Given the description of an element on the screen output the (x, y) to click on. 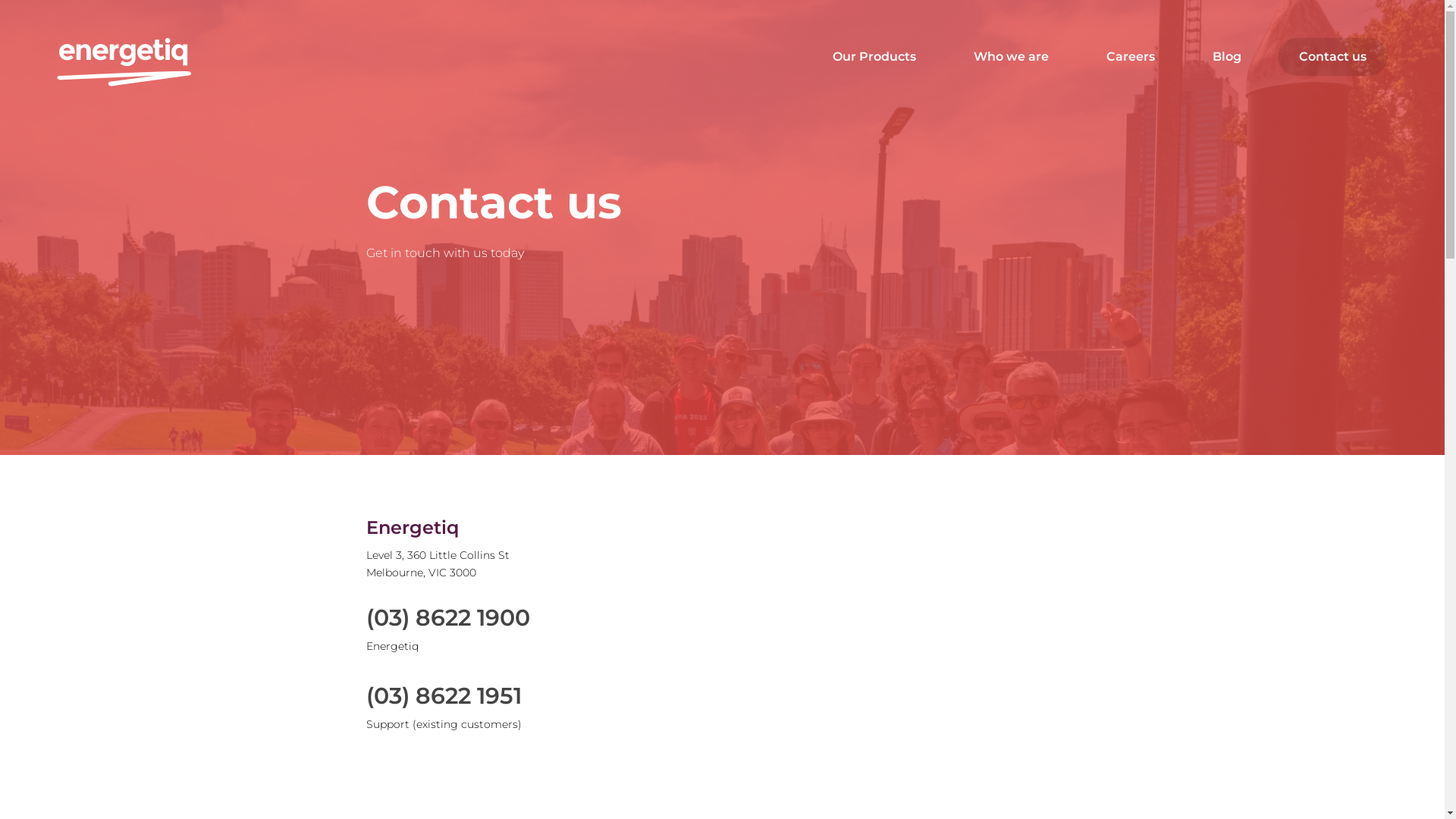
Who we are Element type: text (1011, 56)
Contact us Element type: text (1332, 56)
Our Products Element type: text (874, 56)
Blog Element type: text (1226, 56)
Careers Element type: text (1130, 56)
